Given the description of an element on the screen output the (x, y) to click on. 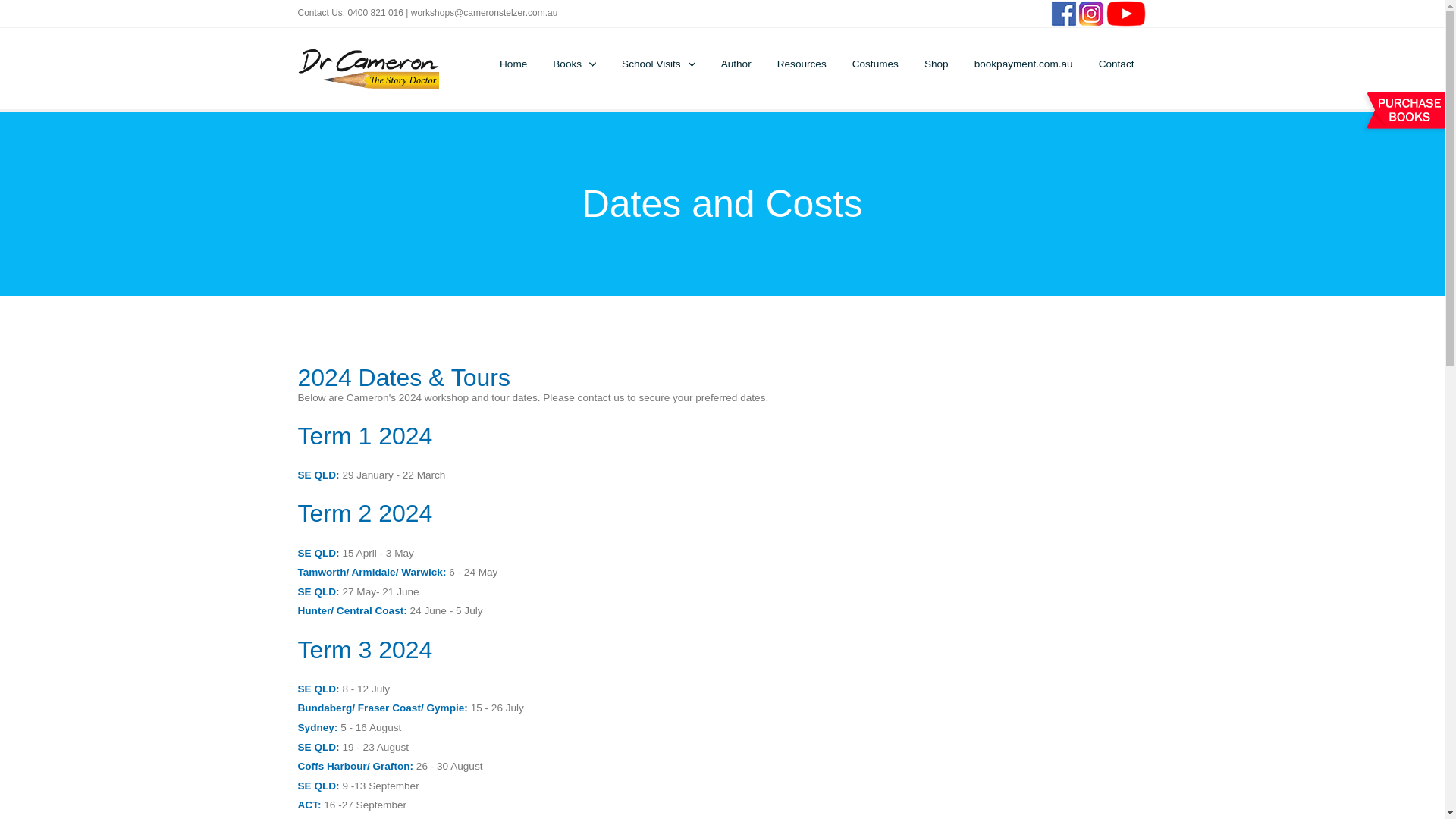
School Visits Element type: text (658, 63)
Author Element type: text (736, 63)
Resources Element type: text (801, 63)
Shop Element type: text (936, 63)
Home Element type: text (512, 63)
Books Element type: text (573, 63)
workshops@cameronstelzer.com.au Element type: text (484, 12)
Costumes Element type: text (875, 63)
Contact Element type: text (1116, 63)
bookpayment.com.au Element type: text (1023, 63)
